Given the description of an element on the screen output the (x, y) to click on. 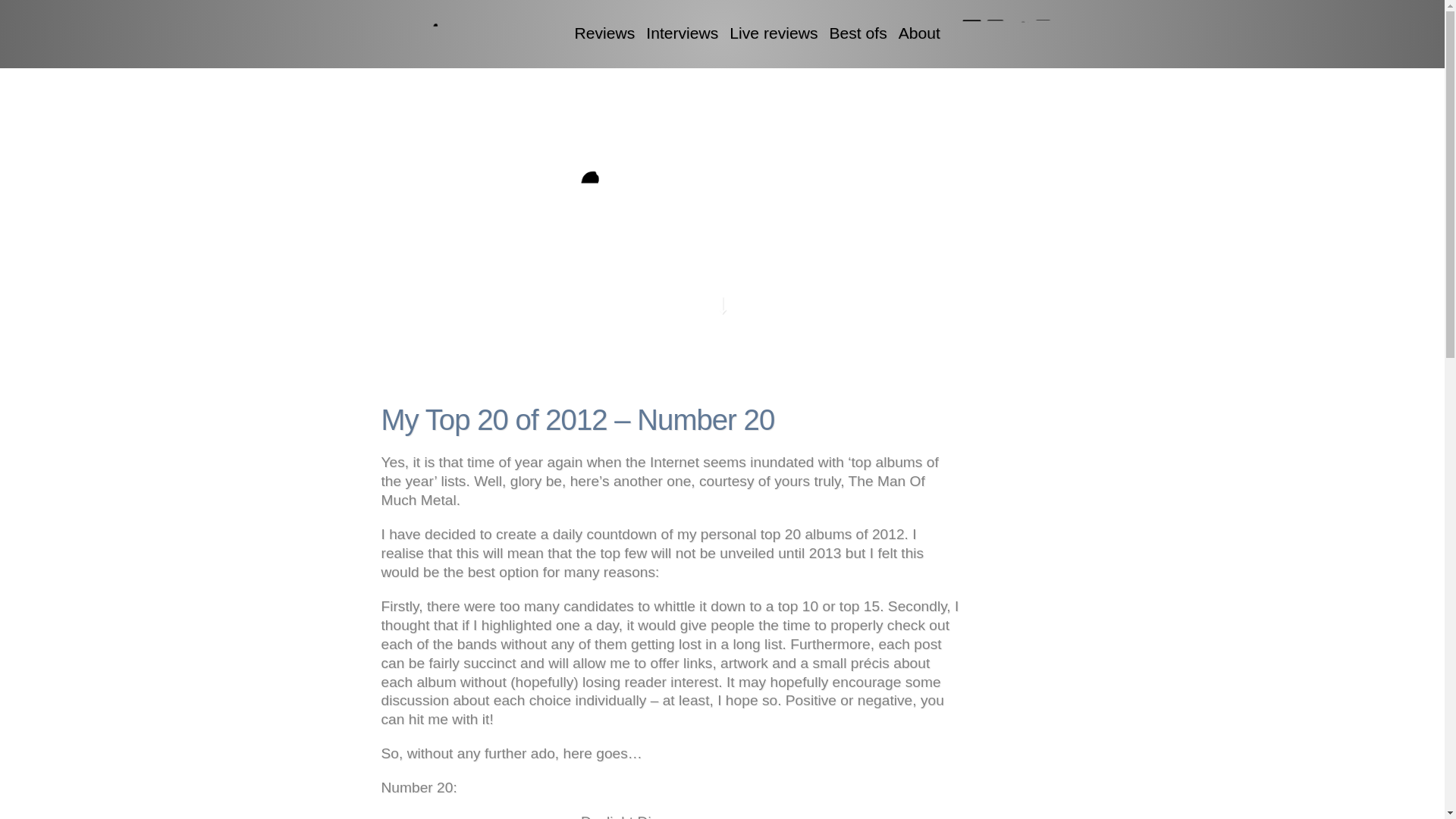
Live reviews (772, 32)
About (919, 32)
Reviews (604, 32)
Interviews (681, 32)
Best ofs (857, 32)
